Given the description of an element on the screen output the (x, y) to click on. 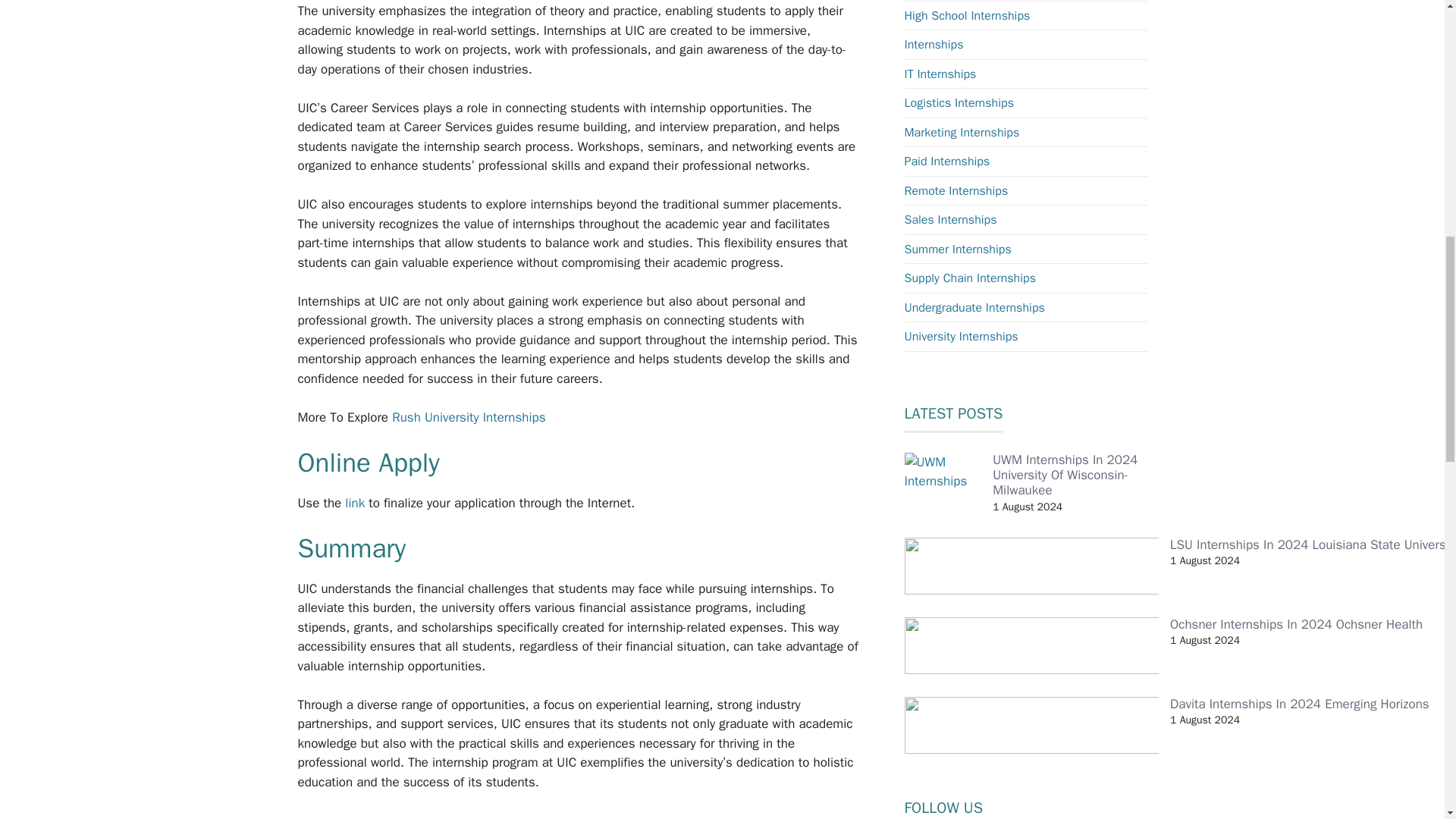
Supply Chain Internships (969, 278)
IT Internships (939, 73)
link  (356, 503)
High School Internships (966, 15)
Sales Internships (949, 219)
Undergraduate Internships (973, 307)
Remote Internships (955, 191)
Marketing Internships (961, 132)
Internships (933, 44)
Paid Internships (947, 160)
Summer Internships (957, 249)
Logistics Internships (958, 102)
Rush University Internships (467, 417)
